Given the description of an element on the screen output the (x, y) to click on. 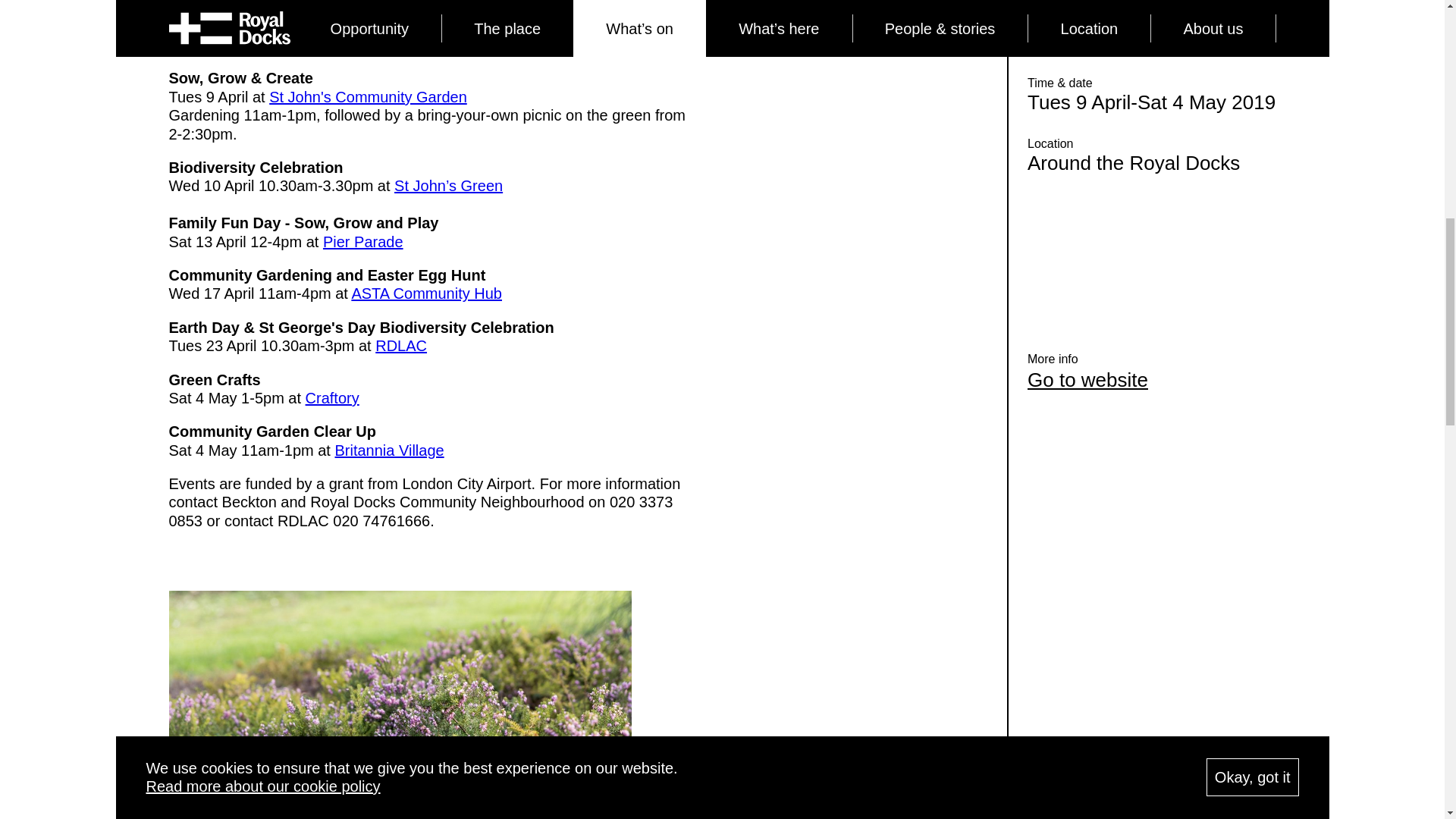
RDLAC (400, 345)
Britannia Village (389, 450)
St John's Community Garden (368, 96)
Craftory (332, 397)
ASTA Community Hub (426, 293)
Pier Parade (363, 241)
